Given the description of an element on the screen output the (x, y) to click on. 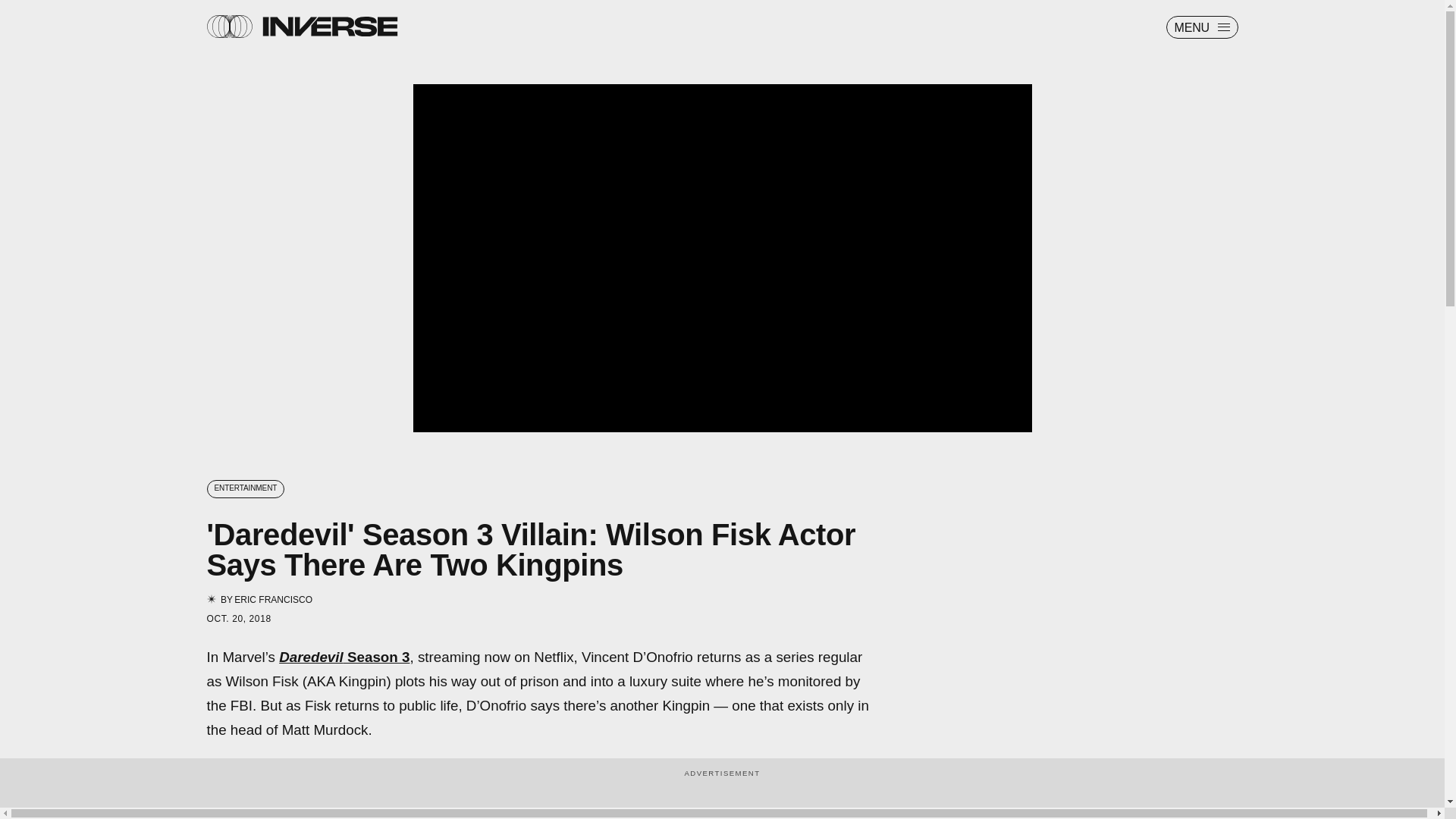
ERIC FRANCISCO (273, 598)
Daredevil Season 3 (344, 657)
Inverse (328, 26)
